Given the description of an element on the screen output the (x, y) to click on. 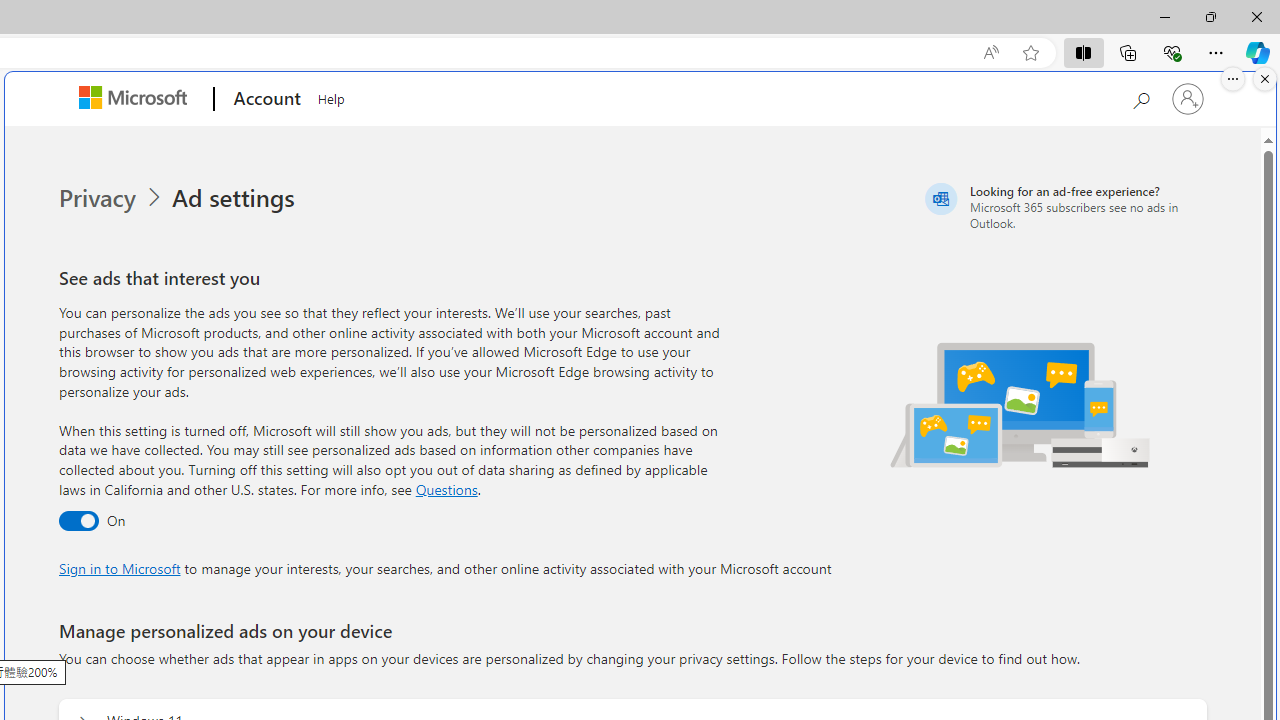
Help (331, 96)
Sign in to Microsoft (119, 568)
Illustration of multiple devices (1021, 403)
Search Microsoft.com (1140, 97)
More options. (1233, 79)
